Given the description of an element on the screen output the (x, y) to click on. 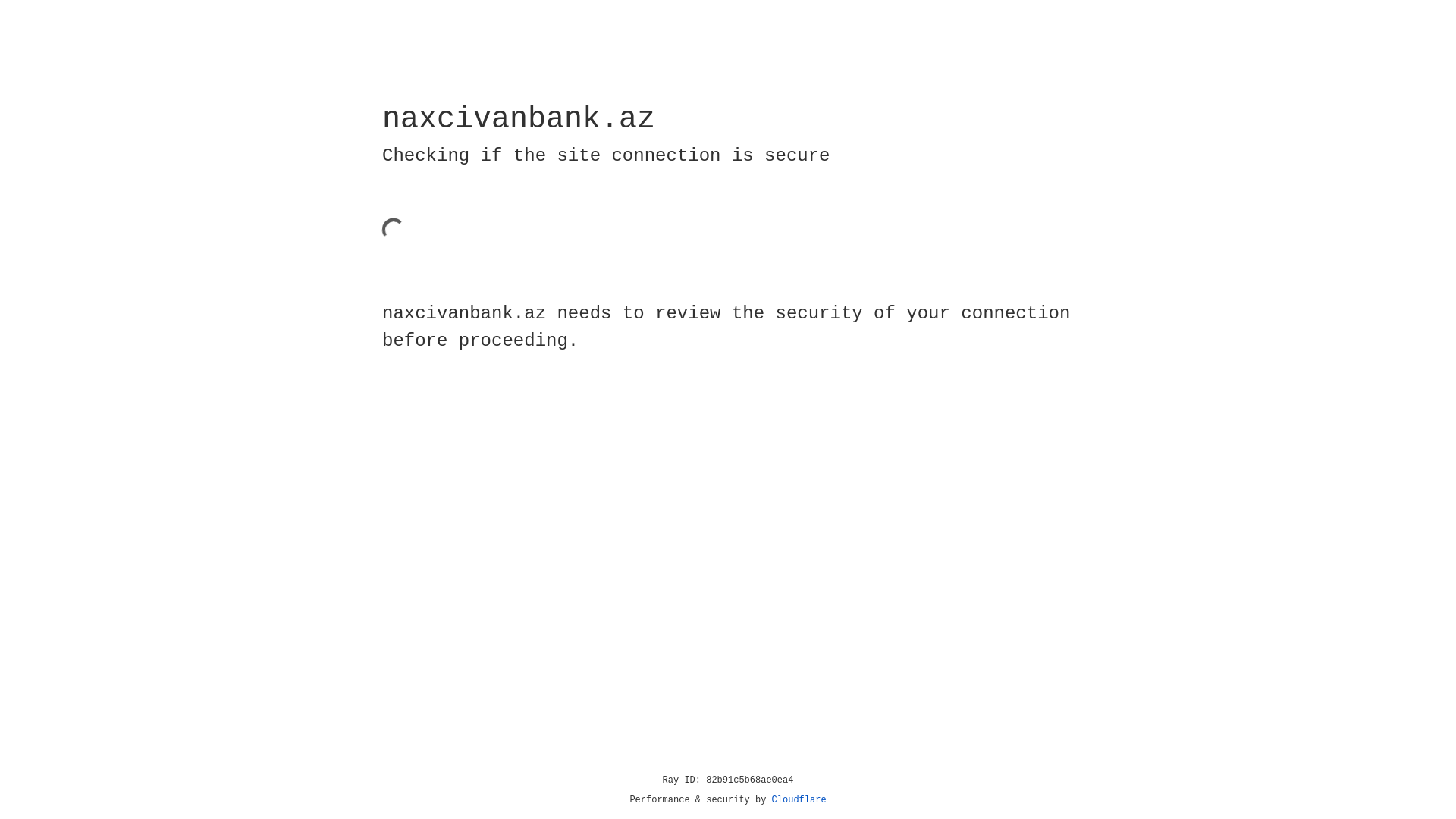
Cloudflare Element type: text (798, 799)
